Given the description of an element on the screen output the (x, y) to click on. 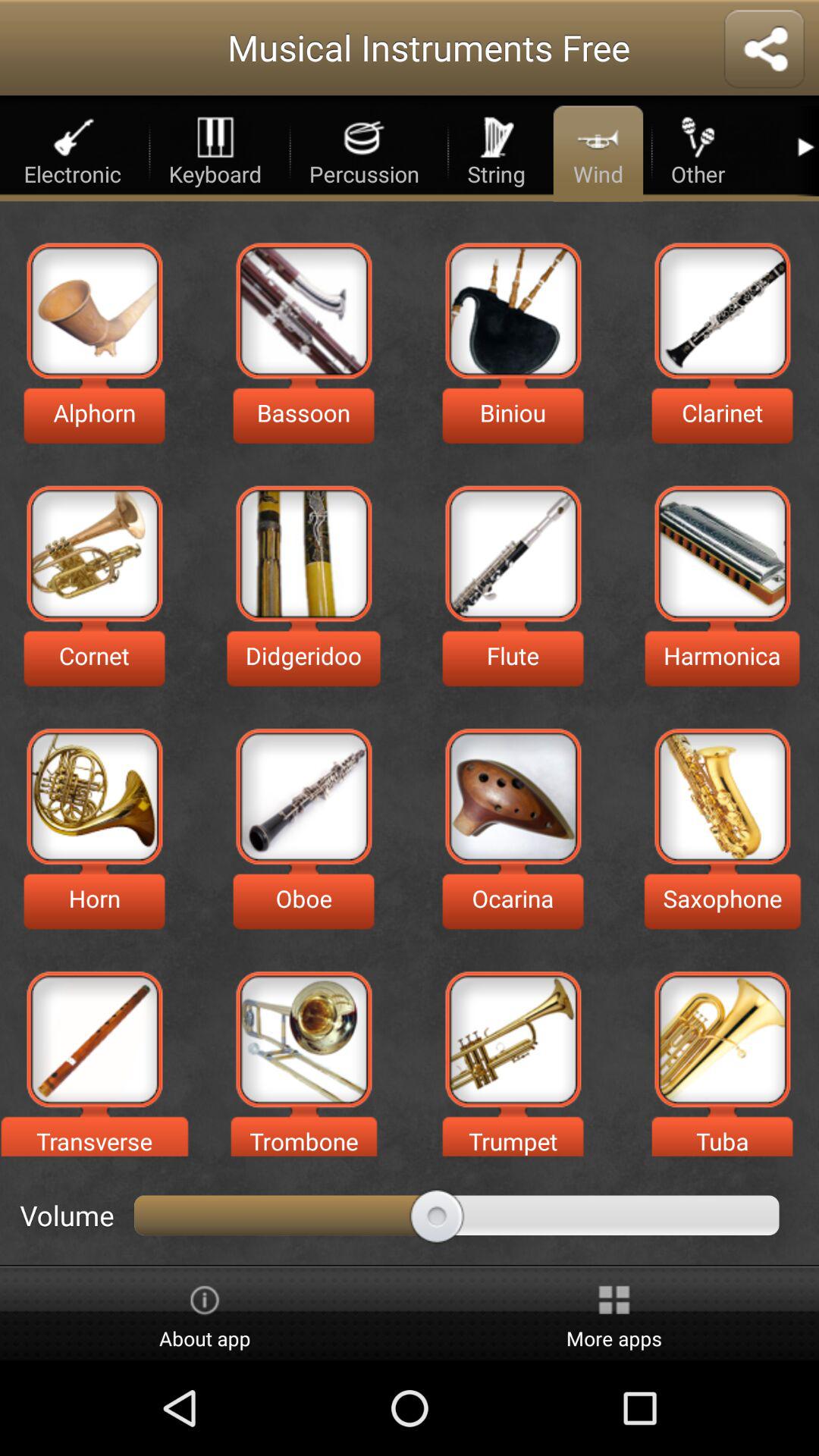
click to didgeridoo option (303, 553)
